Given the description of an element on the screen output the (x, y) to click on. 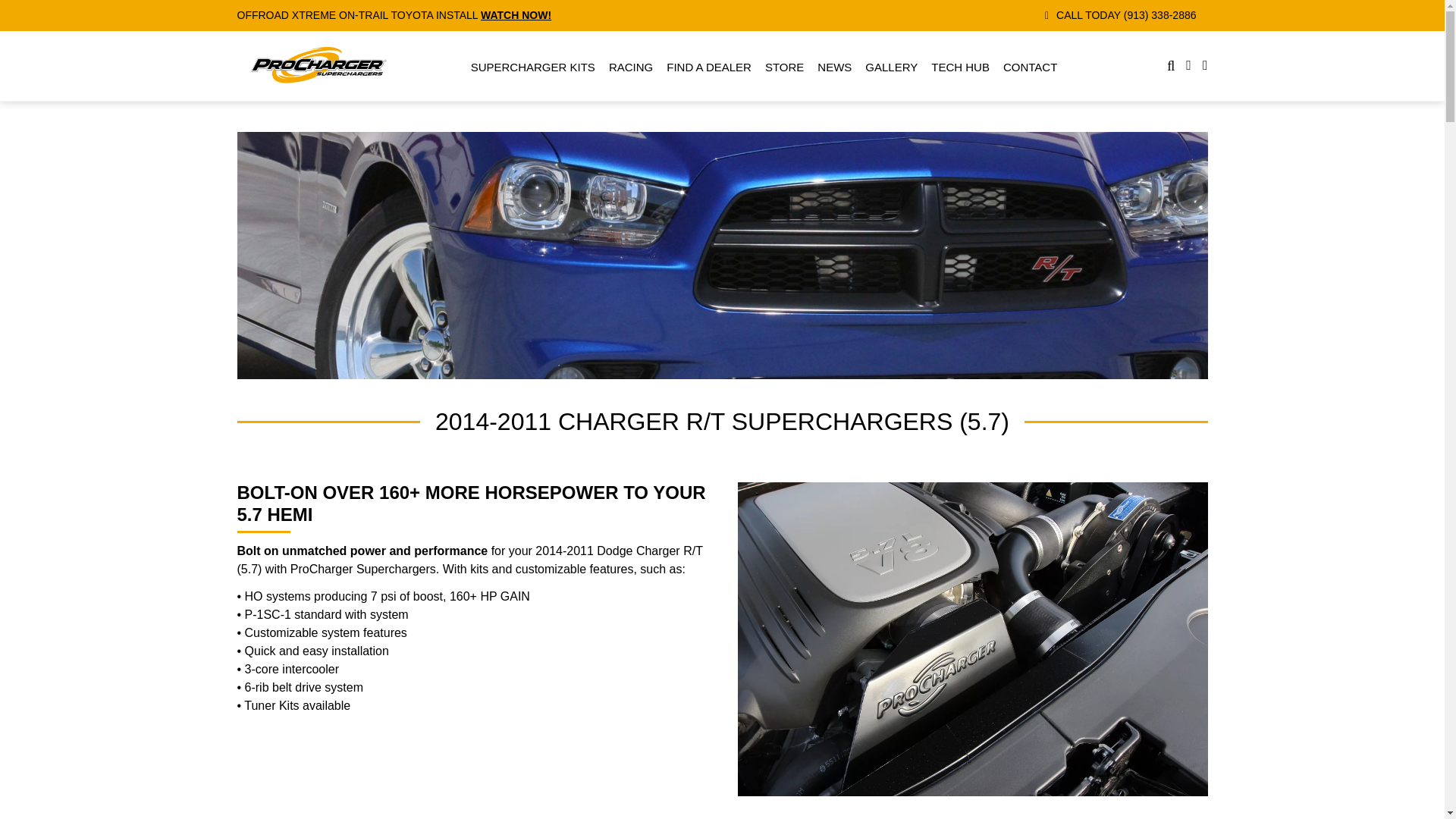
SUPERCHARGER KITS (532, 67)
RACING (630, 67)
WATCH NOW! (515, 15)
ProCharger Supercharger Kits (532, 67)
